Given the description of an element on the screen output the (x, y) to click on. 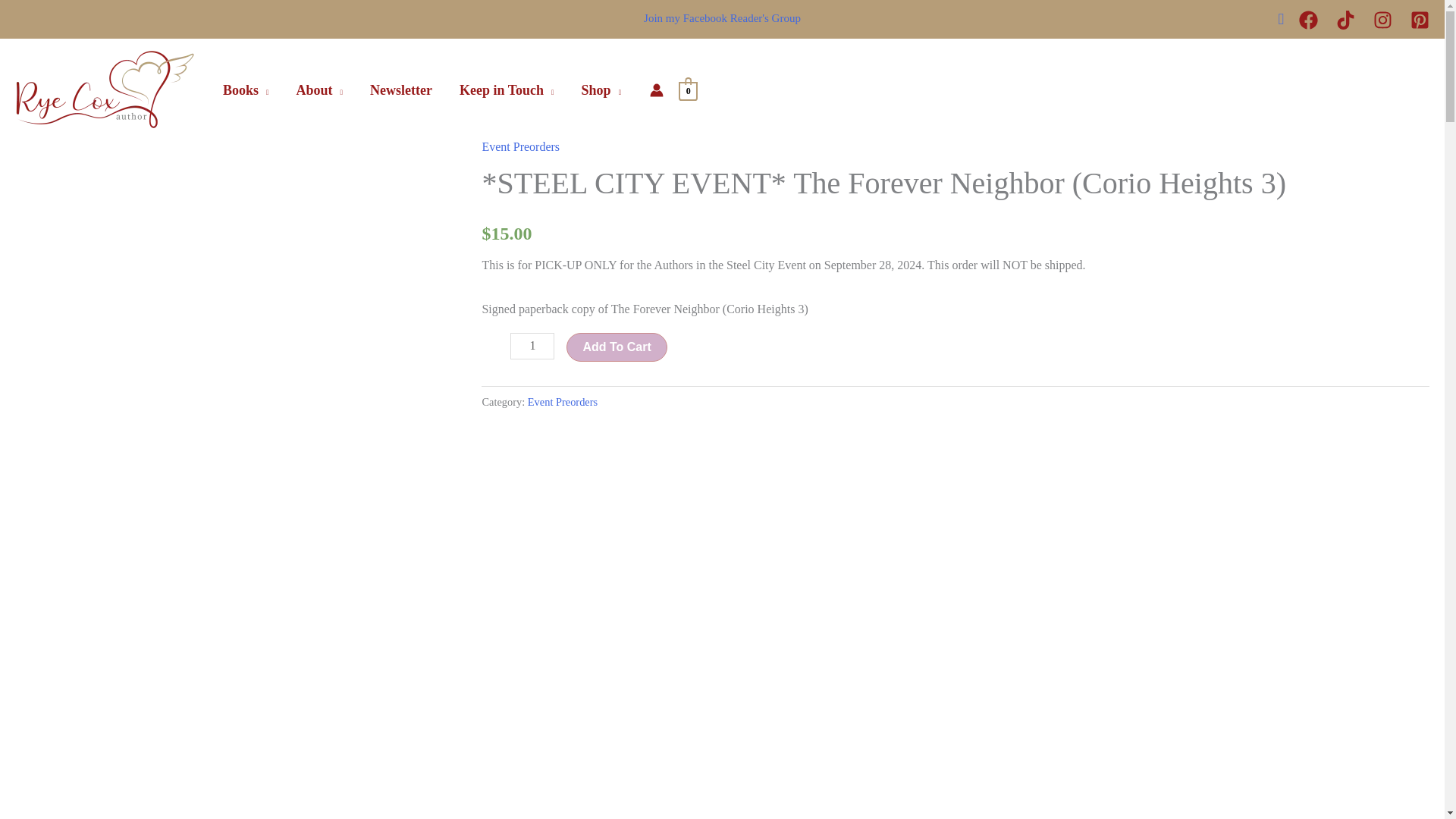
Keep in Touch (506, 90)
1 (532, 345)
Newsletter (400, 90)
Shop (600, 90)
0 (687, 89)
About (319, 90)
Join my Facebook Reader's Group (721, 18)
Books (245, 90)
